Given the description of an element on the screen output the (x, y) to click on. 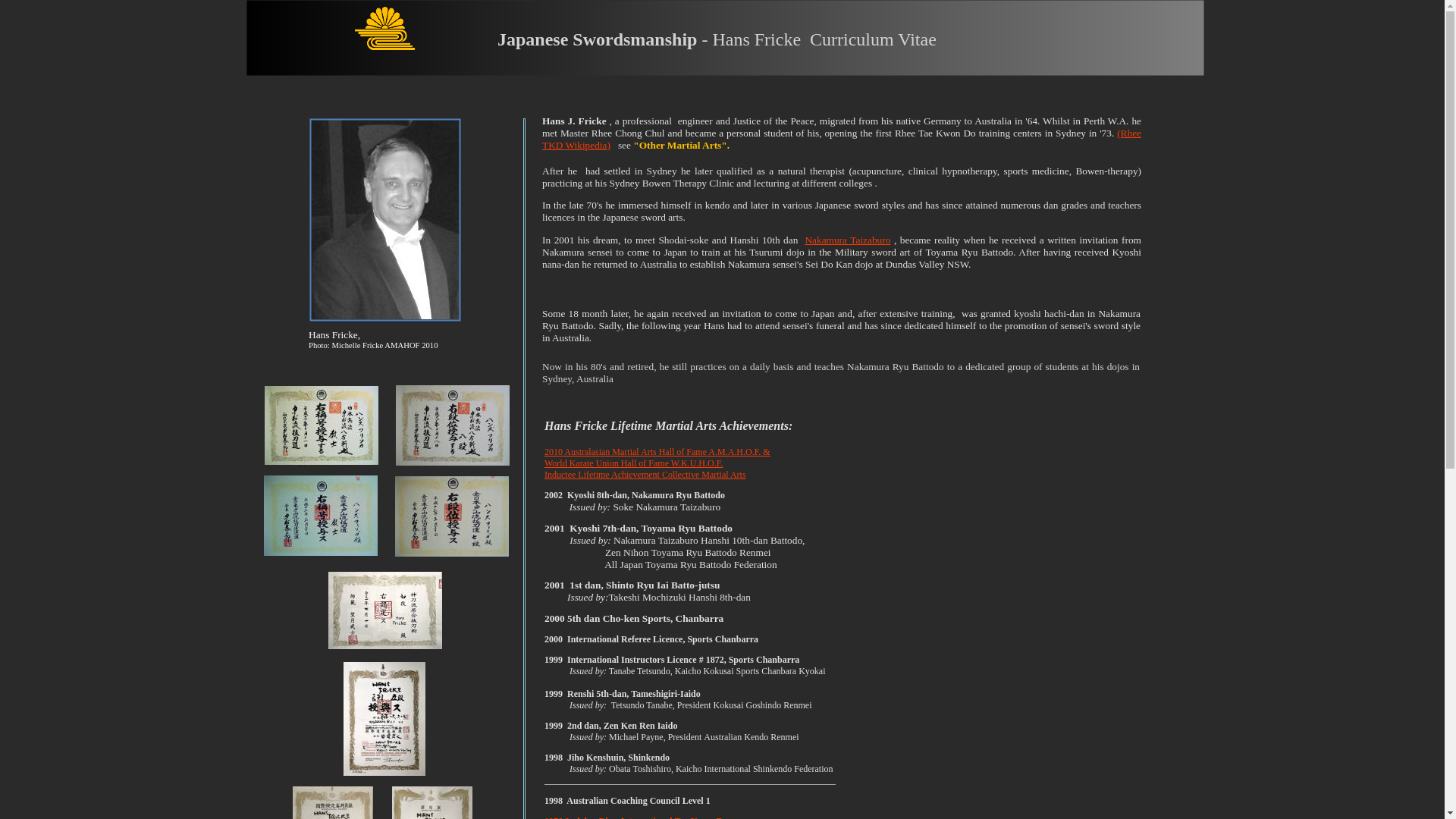
(Rhee TKD Wikipedia) Element type: text (841, 138)
Nakamura Taizaburo Element type: text (847, 239)
